Given the description of an element on the screen output the (x, y) to click on. 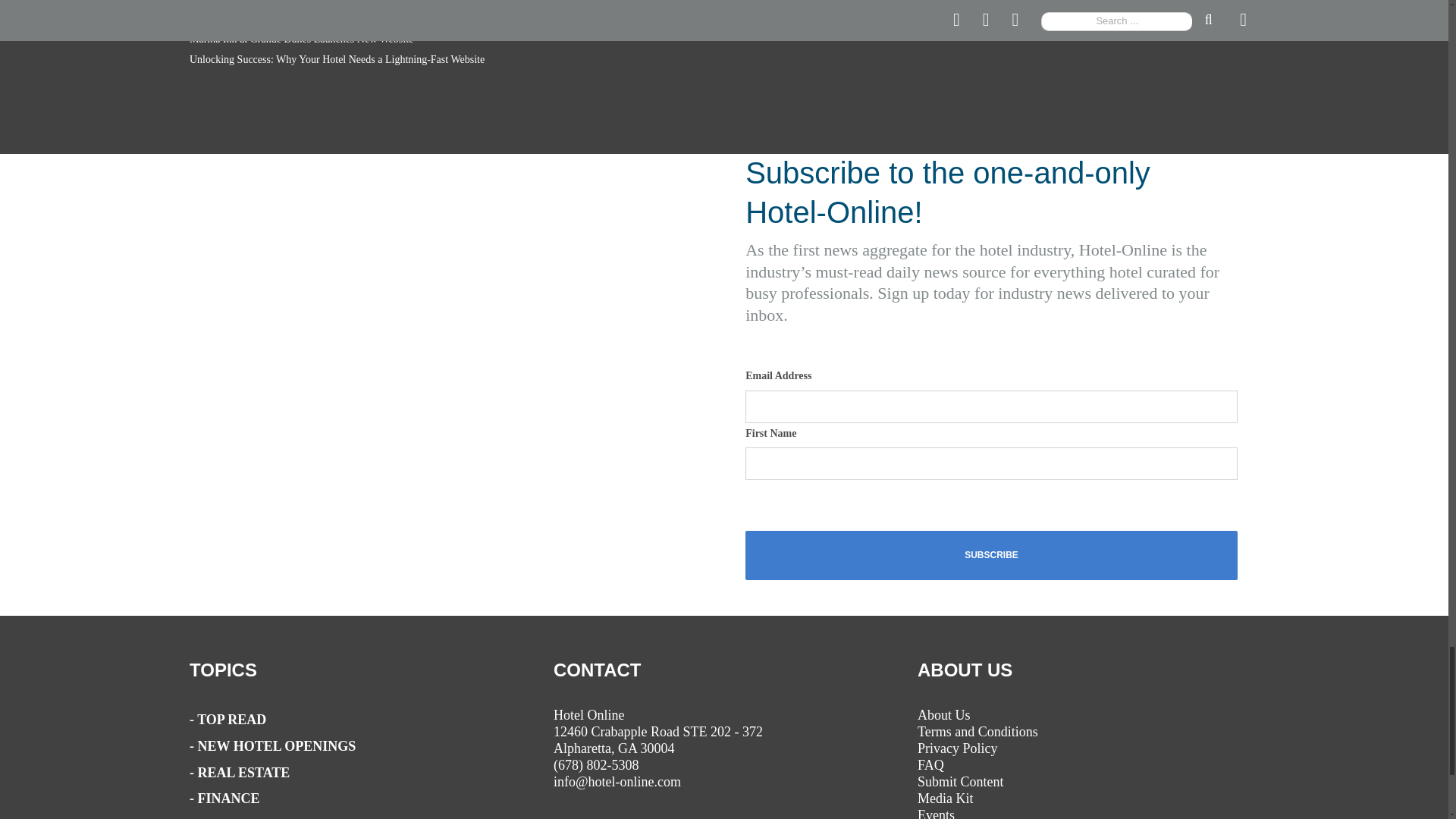
SUbscribe (991, 554)
